Given the description of an element on the screen output the (x, y) to click on. 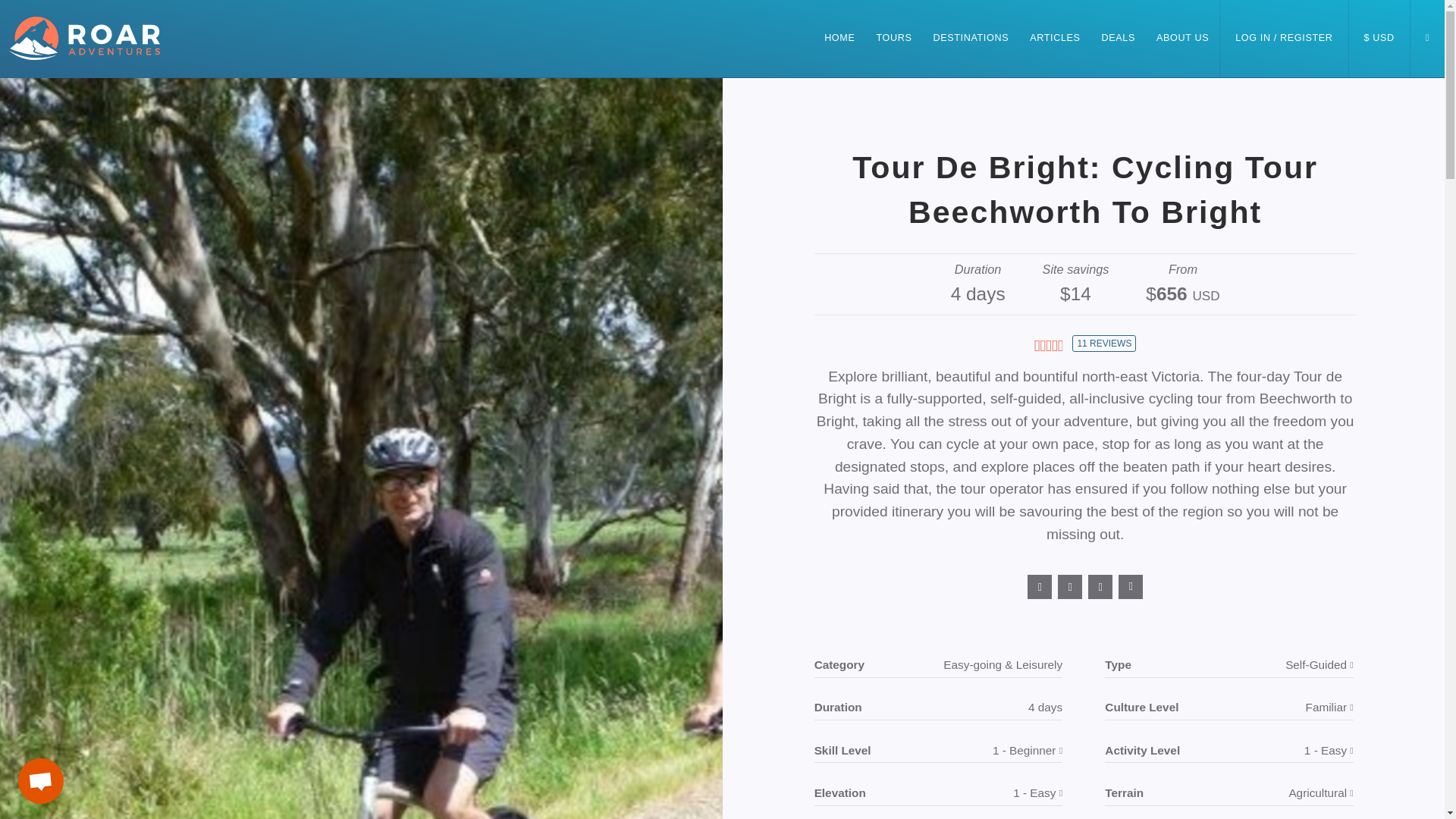
DESTINATIONS (971, 53)
